Given the description of an element on the screen output the (x, y) to click on. 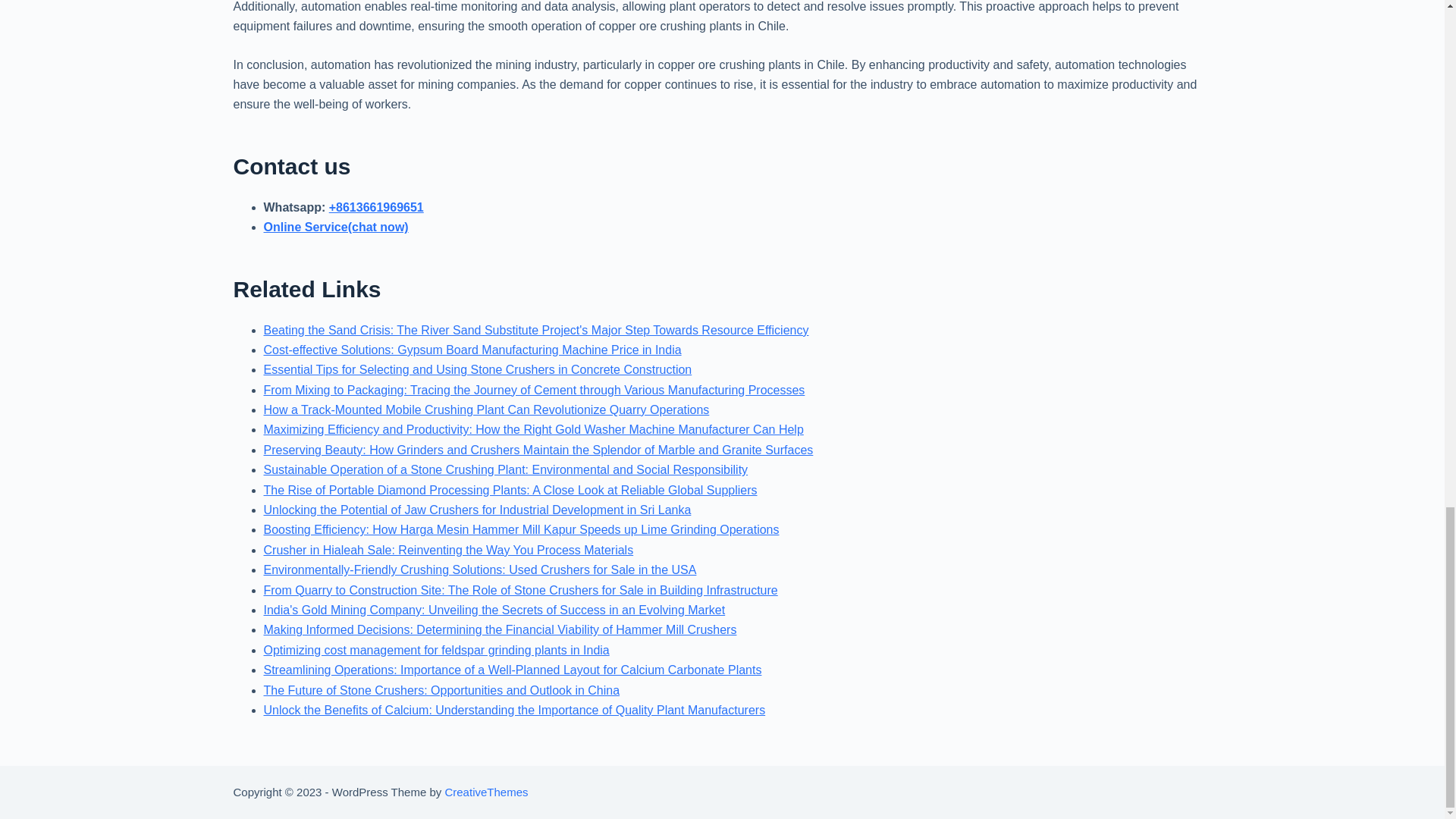
CreativeThemes (485, 791)
